Given the description of an element on the screen output the (x, y) to click on. 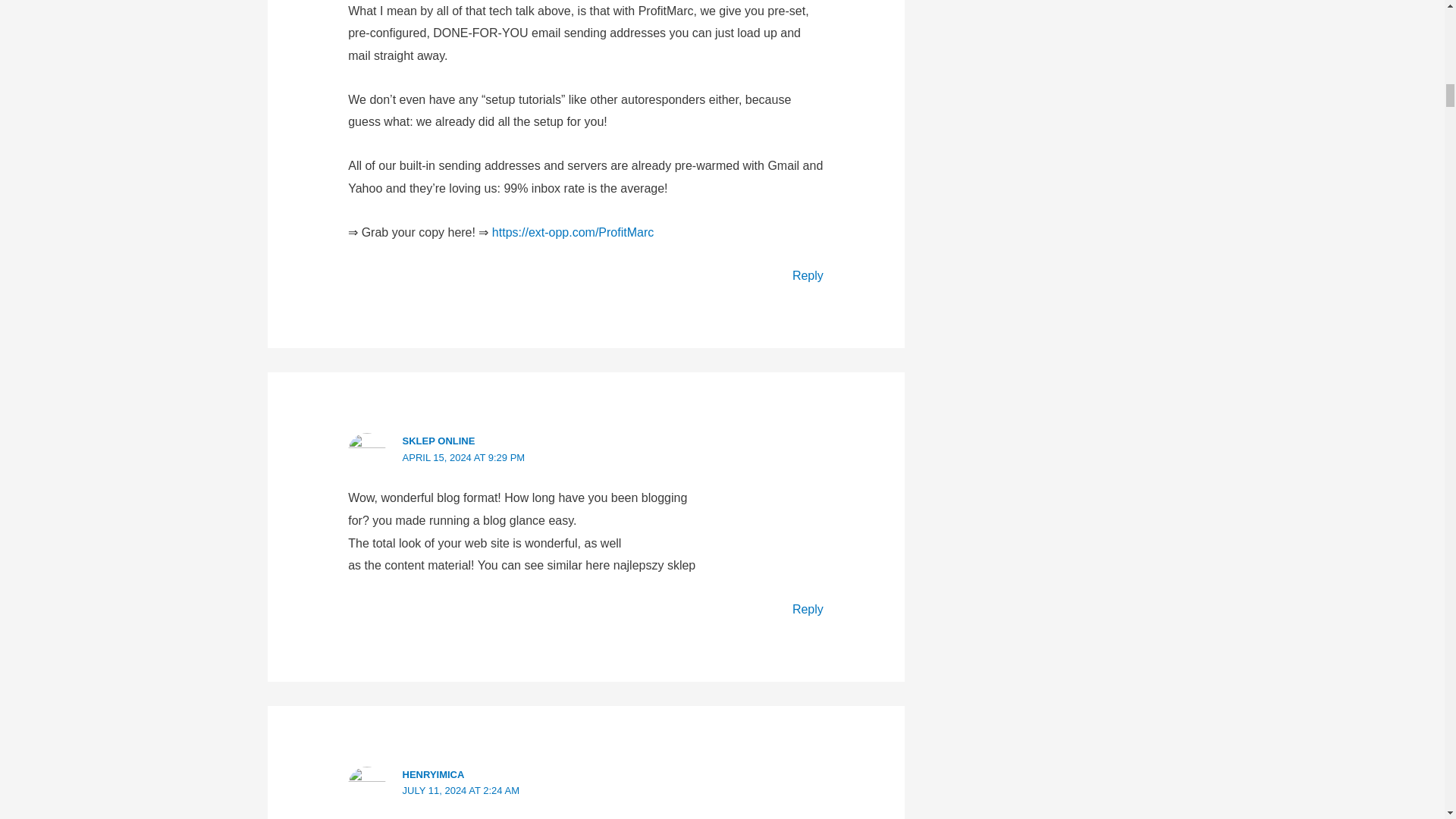
APRIL 15, 2024 AT 9:29 PM (464, 457)
JULY 11, 2024 AT 2:24 AM (461, 790)
Reply (808, 608)
SKLEP ONLINE (439, 440)
Reply (808, 275)
